Given the description of an element on the screen output the (x, y) to click on. 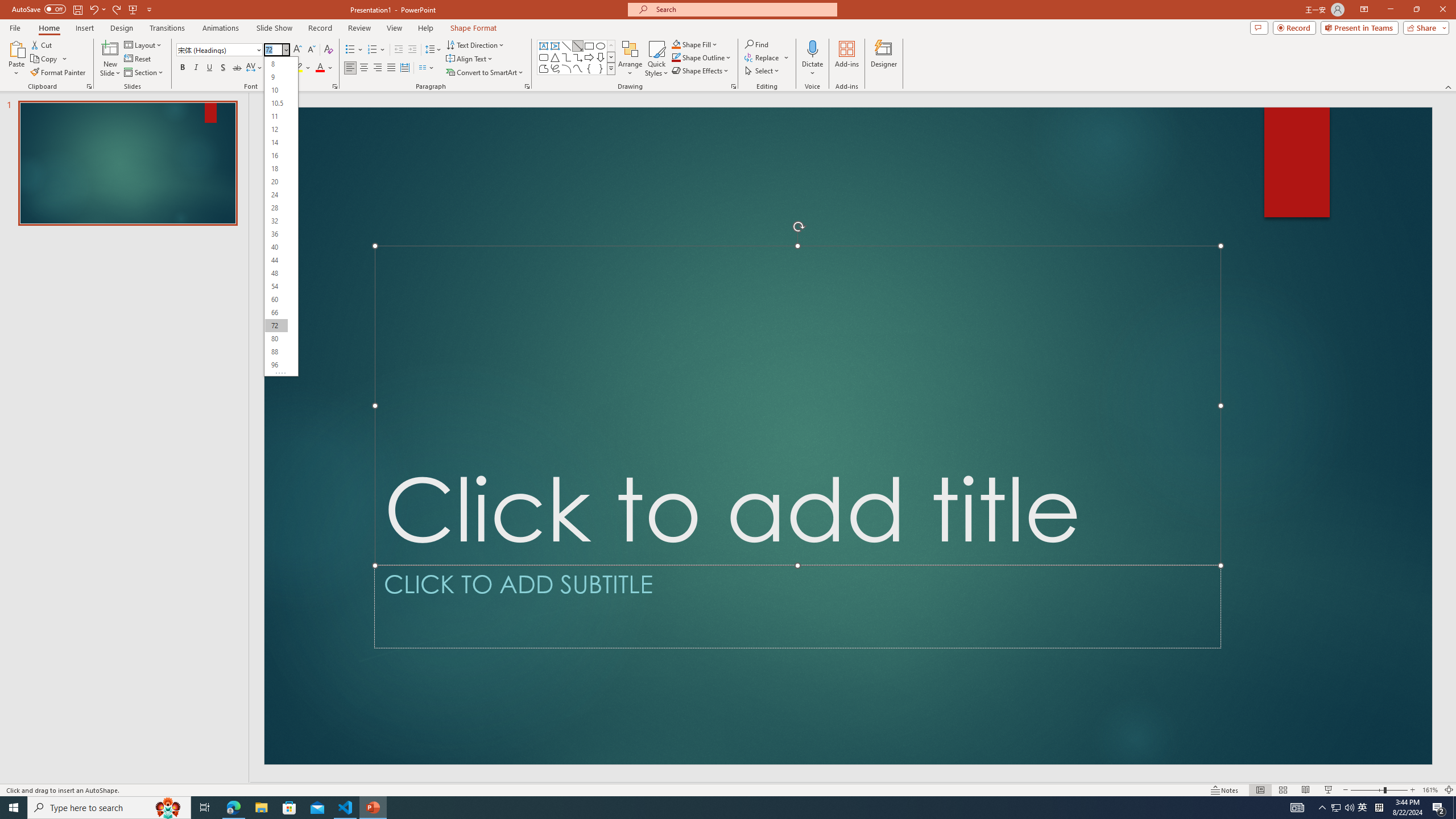
28 (276, 207)
Zoom 161% (1430, 790)
60 (276, 299)
